Given the description of an element on the screen output the (x, y) to click on. 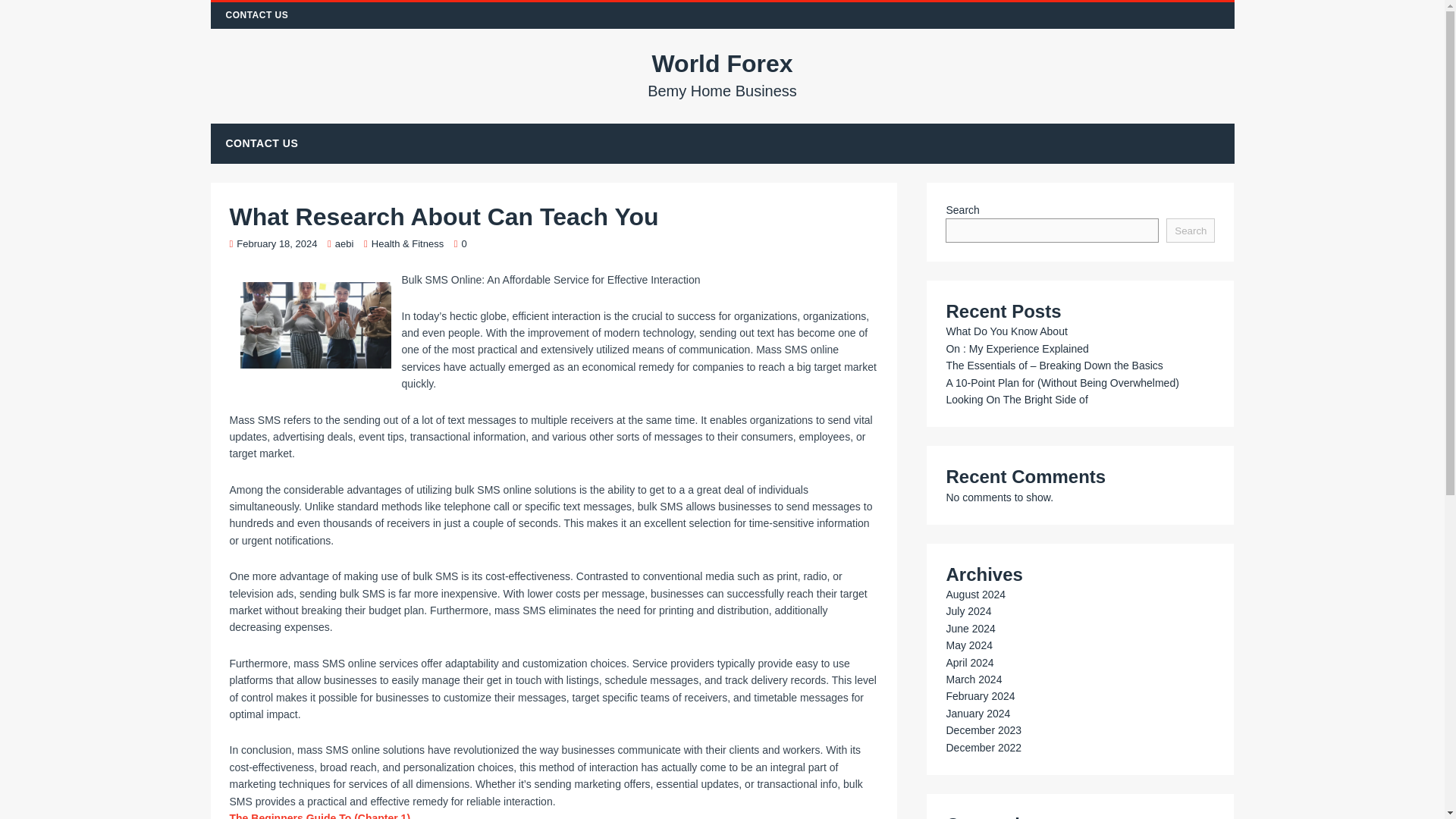
What Do You Know About (1005, 331)
Search (1190, 230)
World Forex (722, 74)
July 2024 (967, 611)
Looking On The Bright Side of (1015, 399)
April 2024 (968, 662)
January 2024 (977, 713)
December 2022 (983, 747)
February 2024 (979, 695)
June 2024 (969, 628)
